Given the description of an element on the screen output the (x, y) to click on. 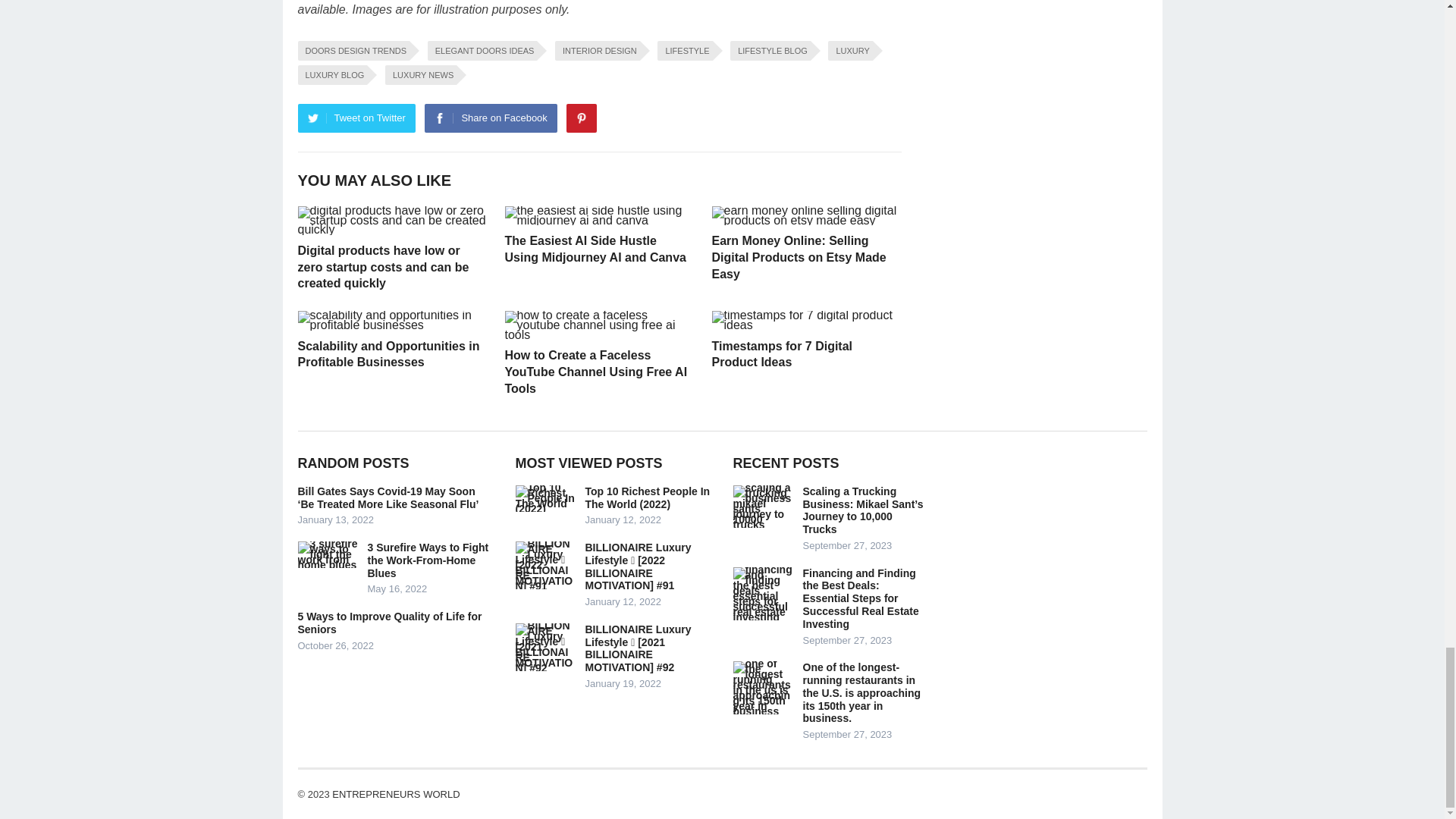
INTERIOR DESIGN (597, 50)
ELEGANT DOORS IDEAS (482, 50)
LIFESTYLE (684, 50)
DOORS DESIGN TRENDS (353, 50)
Timestamps for 7 Digital Product Ideas 14 (805, 320)
The Easiest AI Side Hustle Using Midjourney AI and Canva 6 (599, 216)
Scalability and Opportunities in Profitable Businesses 10 (391, 320)
